Given the description of an element on the screen output the (x, y) to click on. 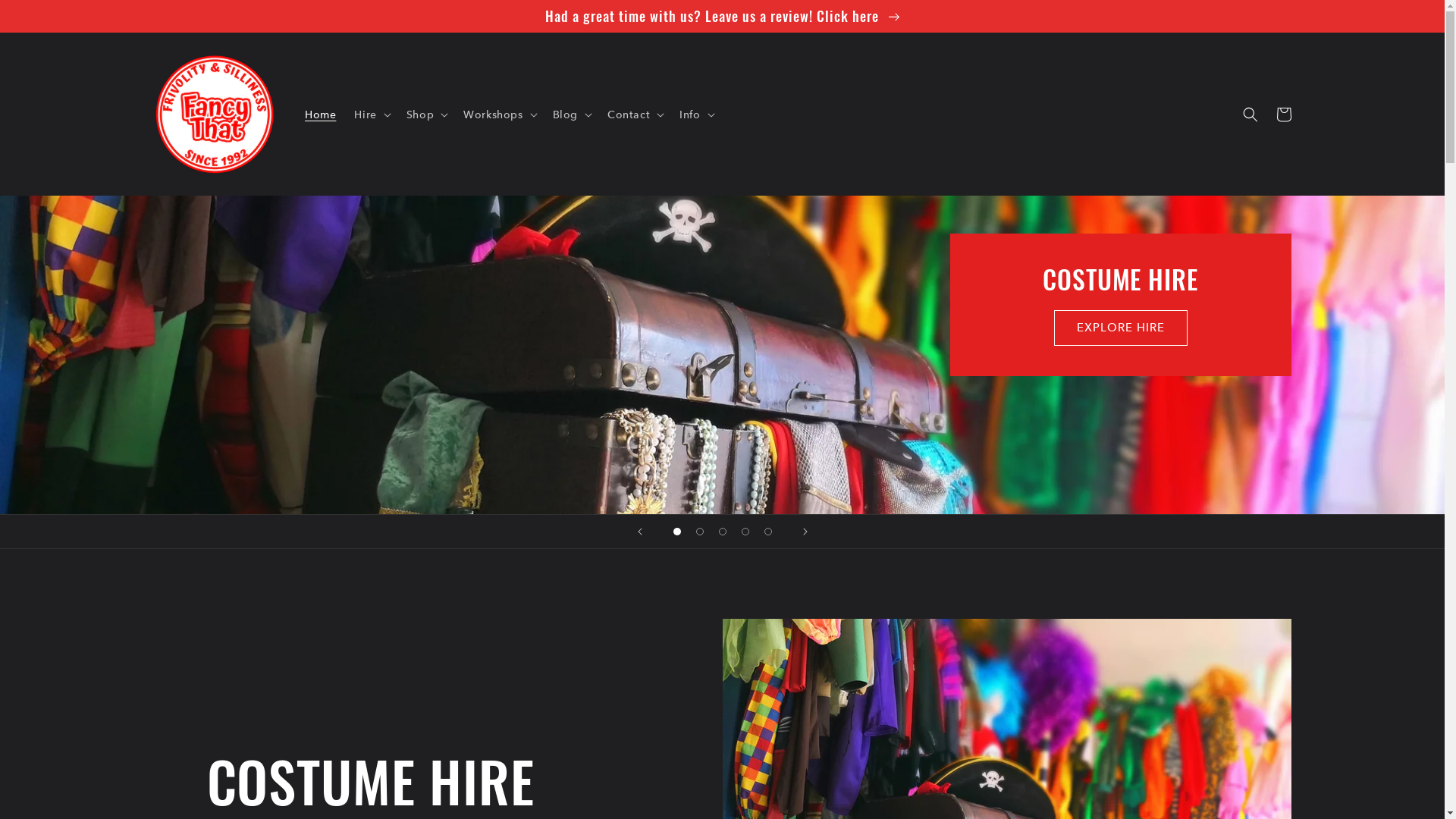
EXPLORE HIRE Element type: text (1120, 327)
Home Element type: text (320, 114)
Cart Element type: text (1282, 114)
Had a great time with us? Leave us a review! Click here Element type: text (722, 15)
